Given the description of an element on the screen output the (x, y) to click on. 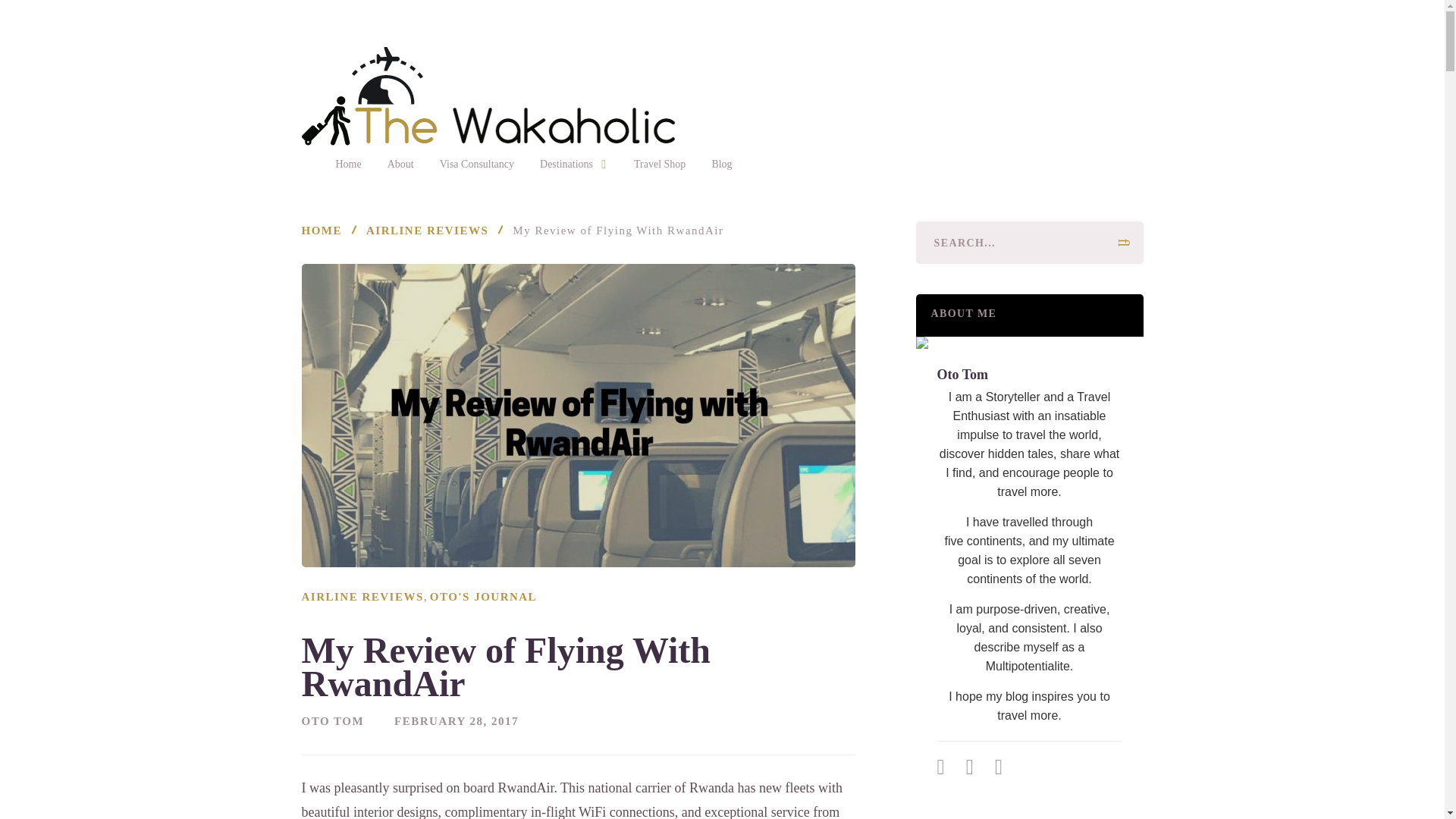
Destinations (574, 164)
View all posts in Airline Reviews (362, 596)
About (400, 164)
OTO'S JOURNAL (483, 596)
HOME (321, 230)
OTO TOM (333, 720)
AIRLINE REVIEWS (426, 230)
Home (347, 164)
Posts by Oto Tom (333, 720)
View all posts in Oto's Journal (483, 596)
